Given the description of an element on the screen output the (x, y) to click on. 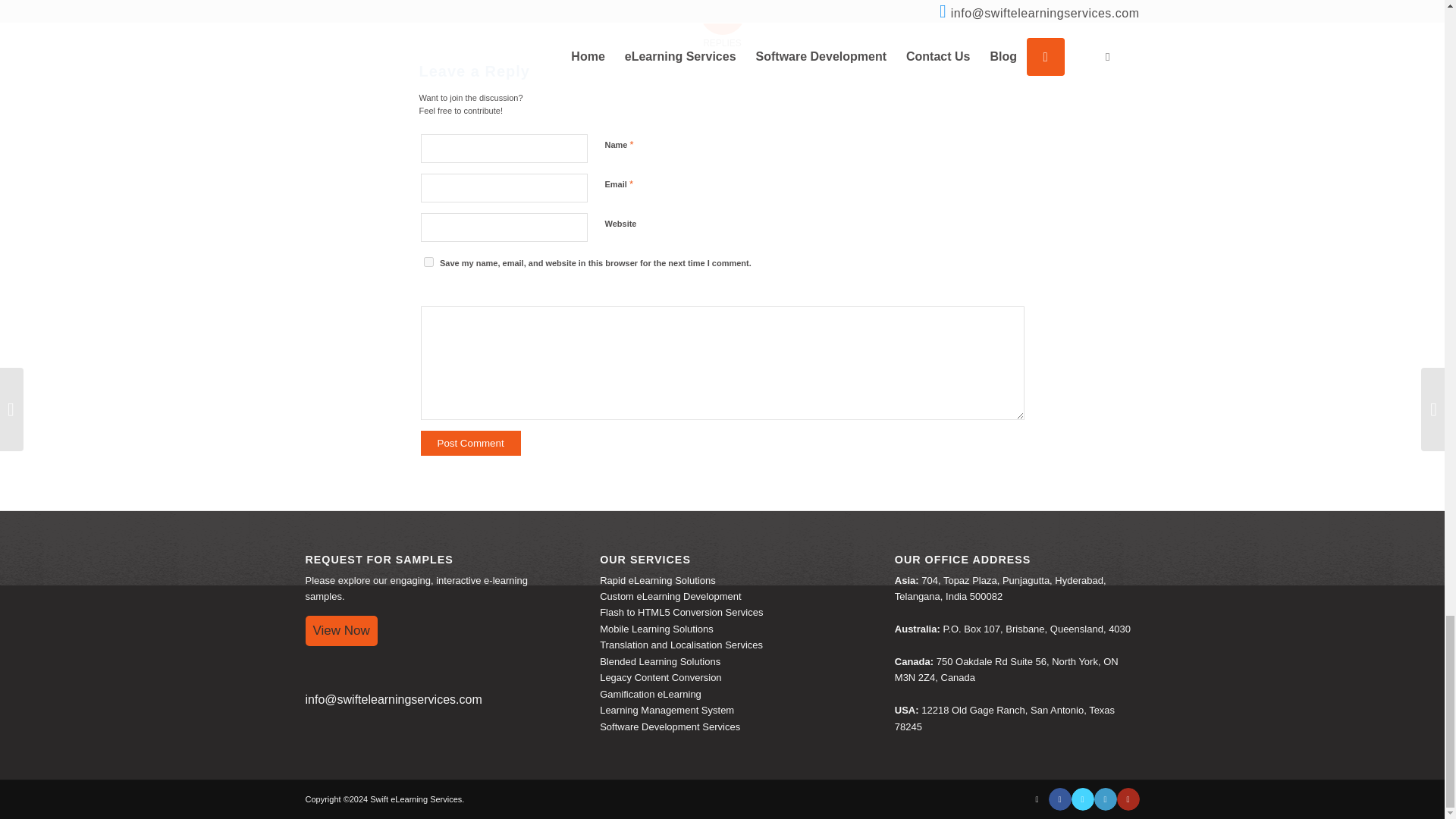
yes (427, 261)
Post Comment (469, 442)
View Now (340, 630)
LinkedIn (1104, 798)
Facebook (1059, 798)
WhatsApp (1036, 798)
Youtube (1127, 798)
Twitter (1081, 798)
